Given the description of an element on the screen output the (x, y) to click on. 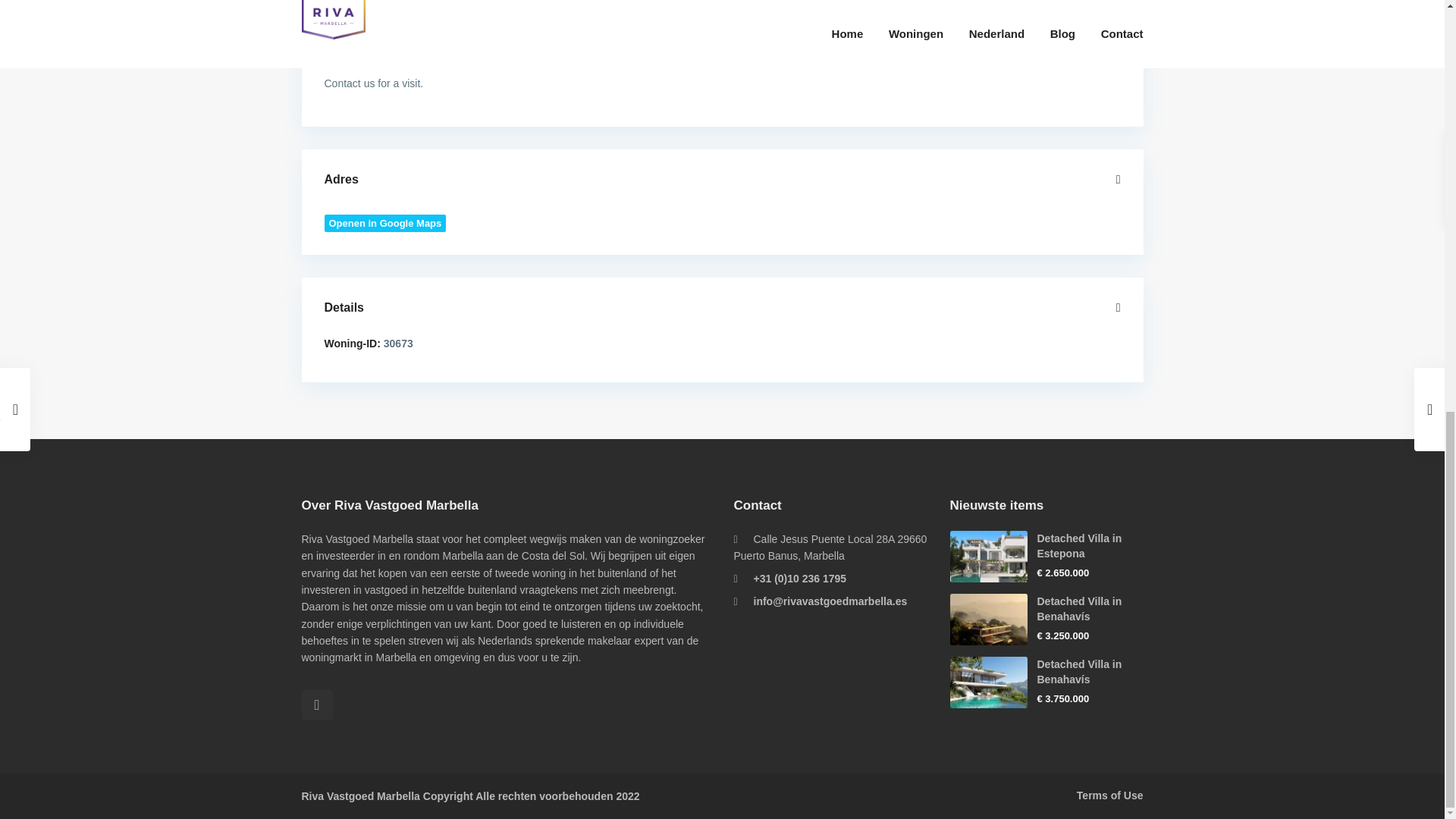
Terms of Use (1109, 795)
Details (722, 308)
Openen in Google Maps (385, 222)
Adres (722, 179)
Detached Villa in Estepona (1079, 545)
